Given the description of an element on the screen output the (x, y) to click on. 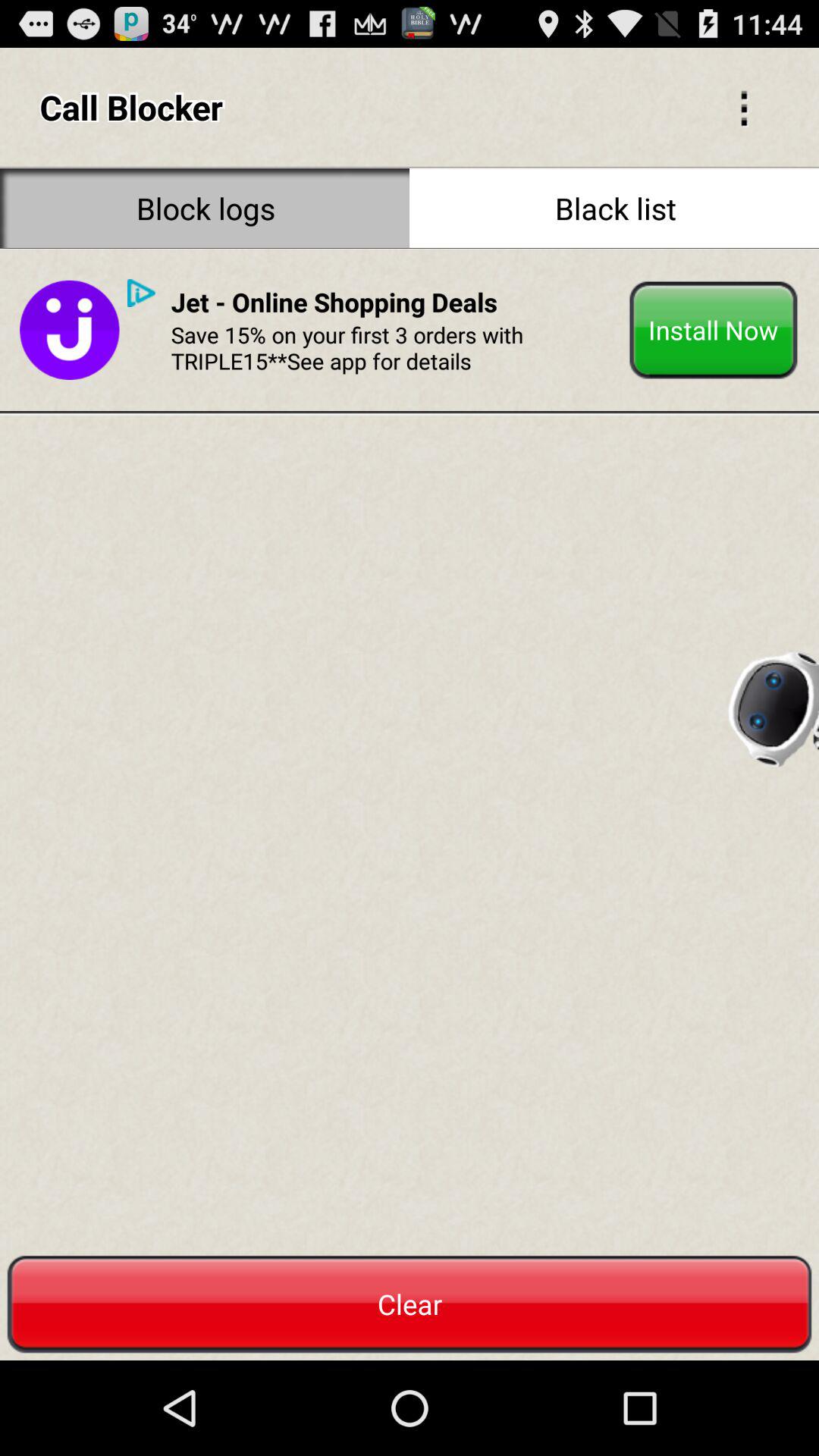
open button below install now item (772, 703)
